Given the description of an element on the screen output the (x, y) to click on. 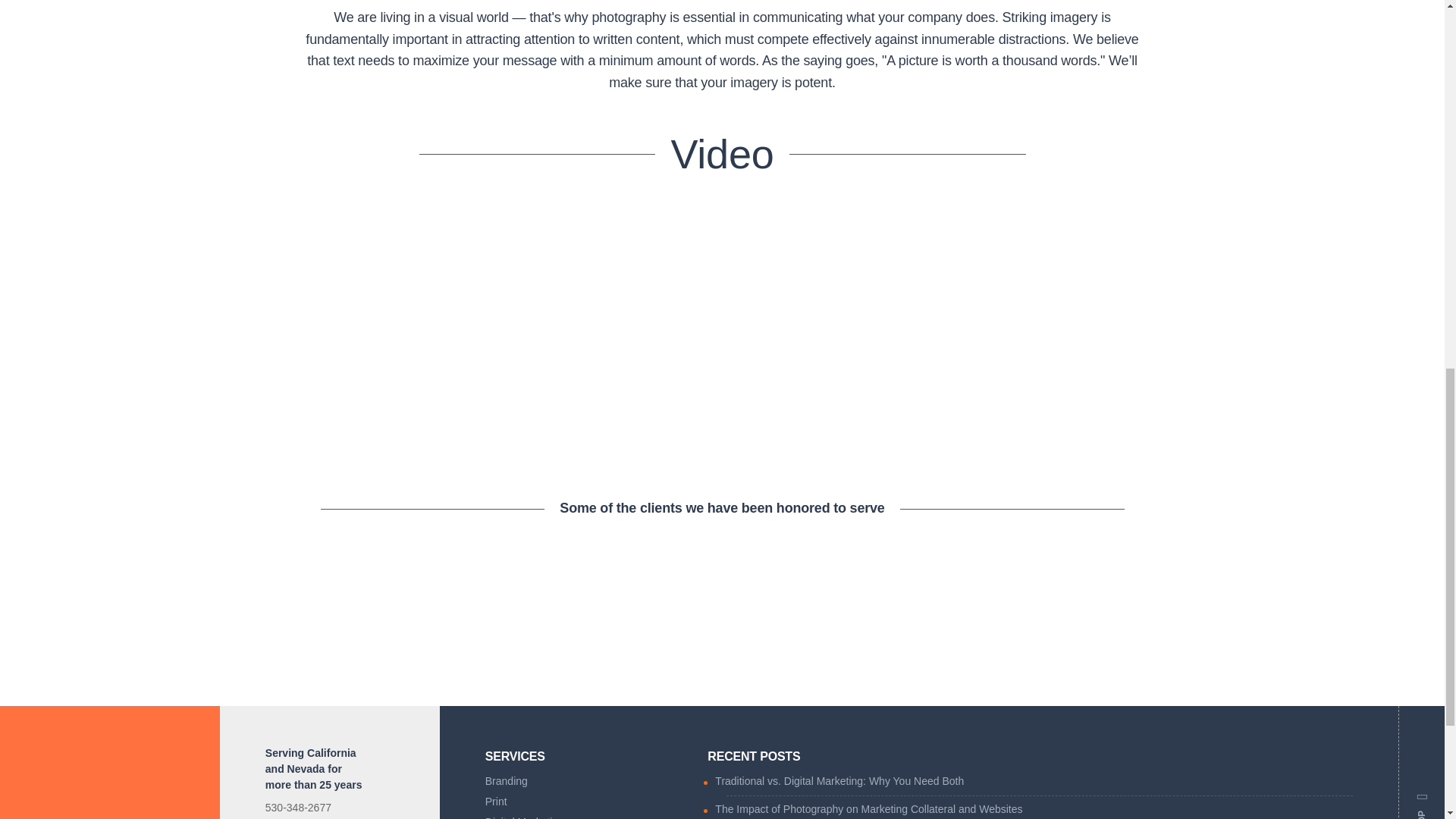
Print (584, 803)
530-348-2677 (297, 807)
Branding (584, 783)
